Given the description of an element on the screen output the (x, y) to click on. 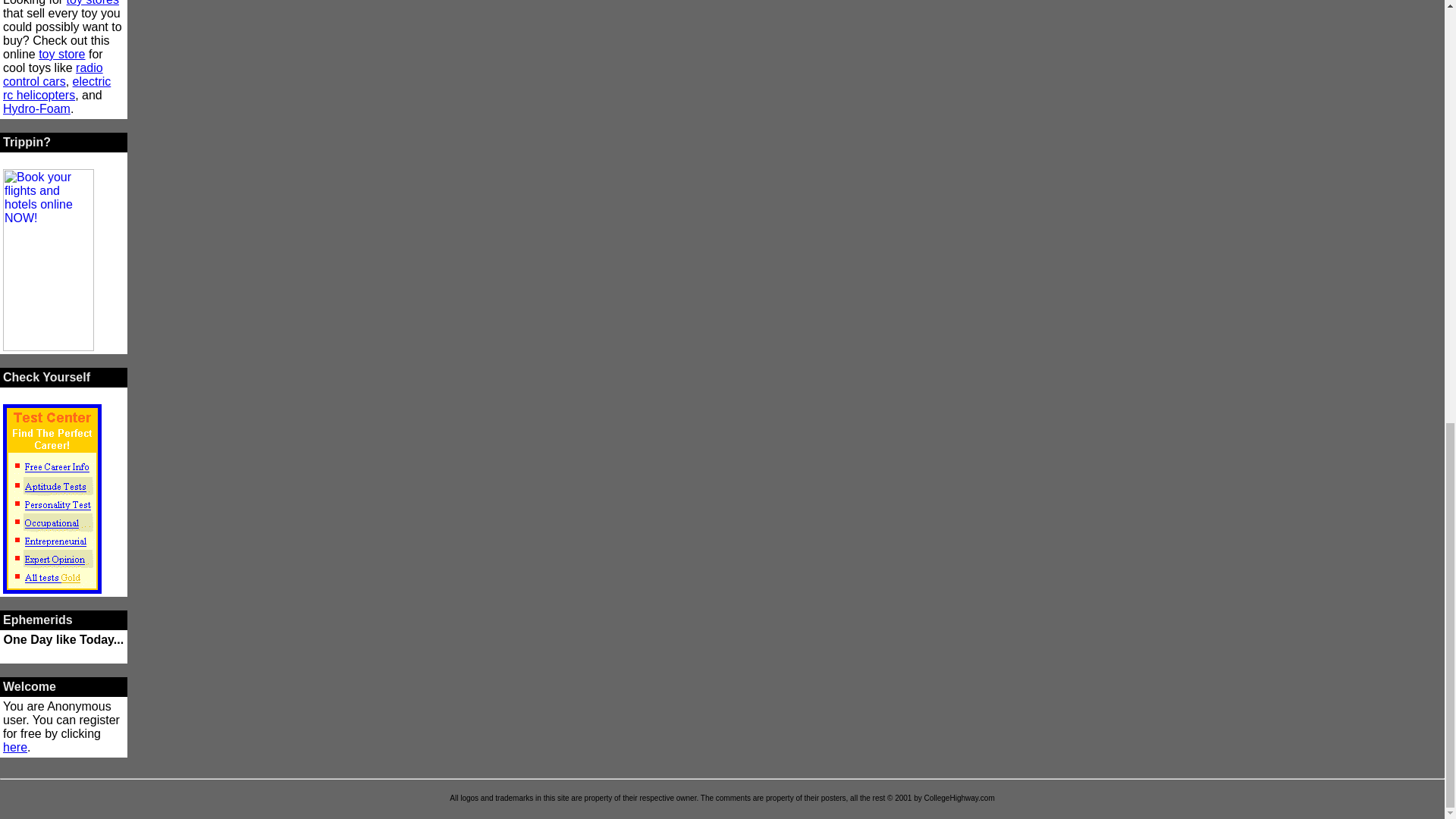
here (14, 747)
toy store (61, 53)
toy stores (92, 2)
electric rc helicopters (56, 88)
Hydro-Foam (35, 108)
radio control cars (52, 74)
